Given the description of an element on the screen output the (x, y) to click on. 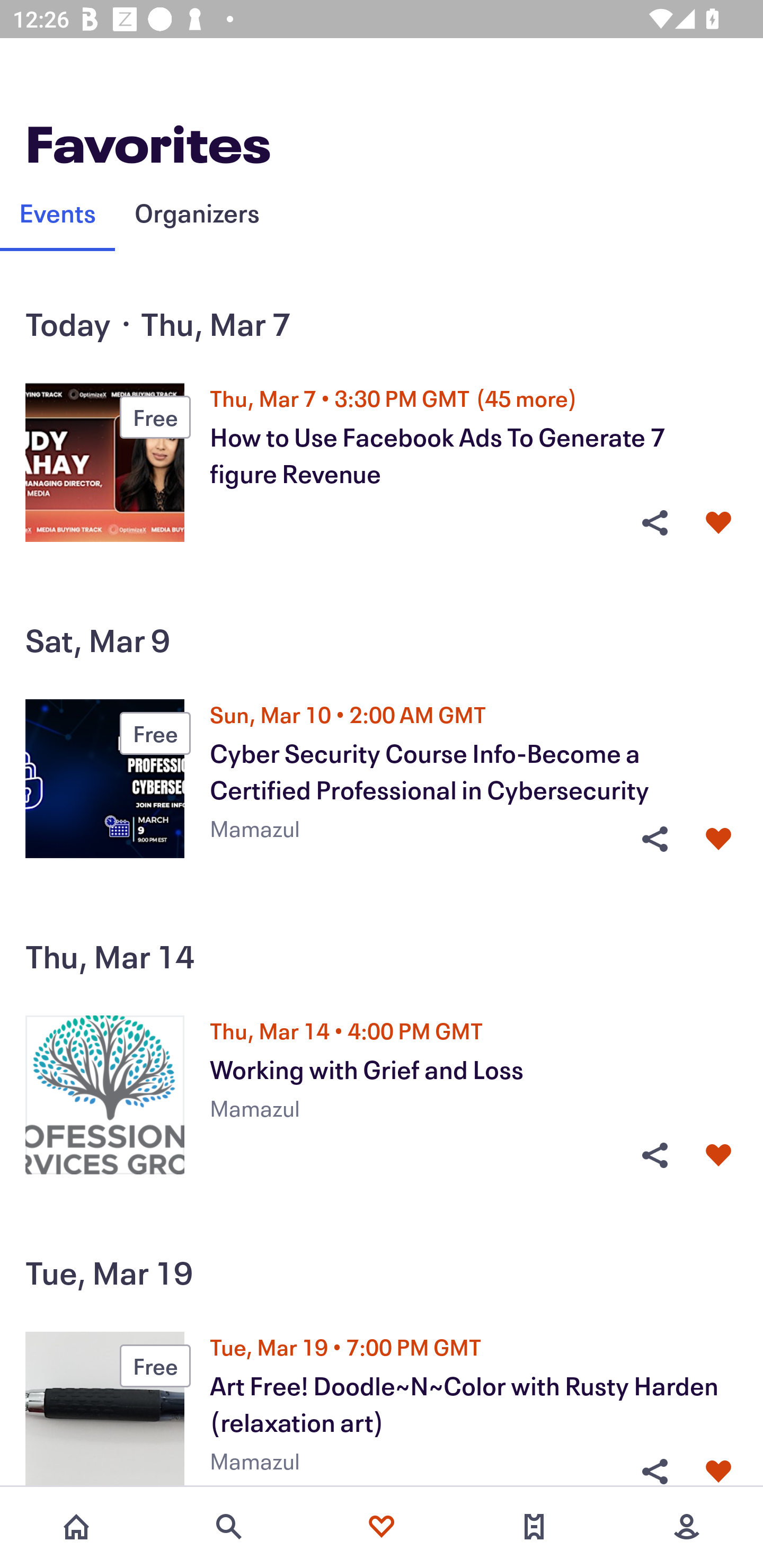
Organizers (196, 212)
Share Event (654, 522)
Unlike event (718, 522)
Share Event (654, 838)
Unlike event (718, 838)
Share Event (654, 1155)
Unlike event (718, 1155)
Share Event (654, 1471)
Unlike event (718, 1471)
Home (76, 1526)
Search events (228, 1526)
Favorites (381, 1526)
Tickets (533, 1526)
More (686, 1526)
